Given the description of an element on the screen output the (x, y) to click on. 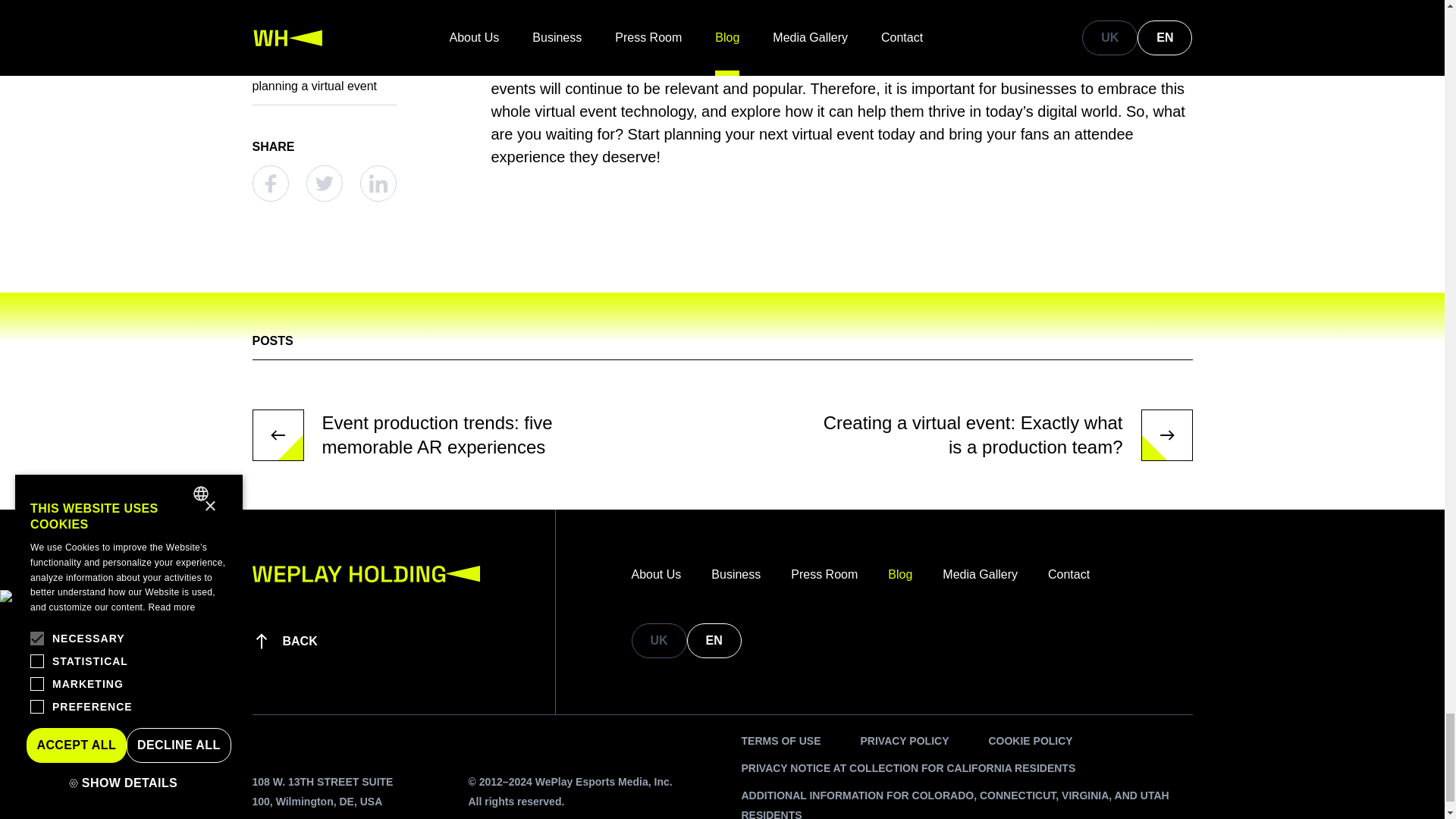
BACK (284, 641)
Creating a virtual event: Exactly what is a production team? (1000, 435)
Event production trends: five memorable AR experiences (442, 435)
About Us (655, 574)
